Given the description of an element on the screen output the (x, y) to click on. 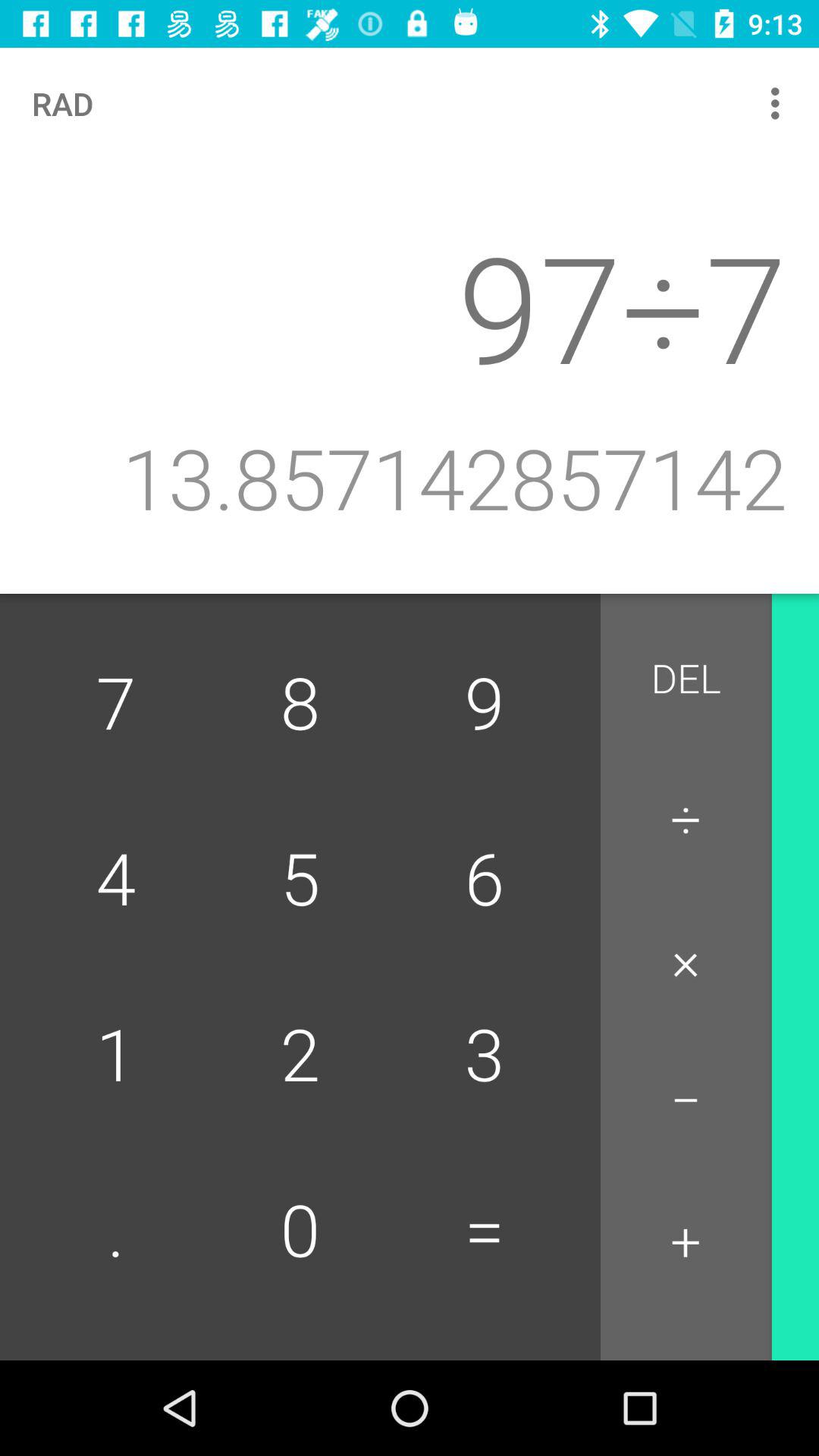
choose the button to the right of 2 item (484, 1232)
